Given the description of an element on the screen output the (x, y) to click on. 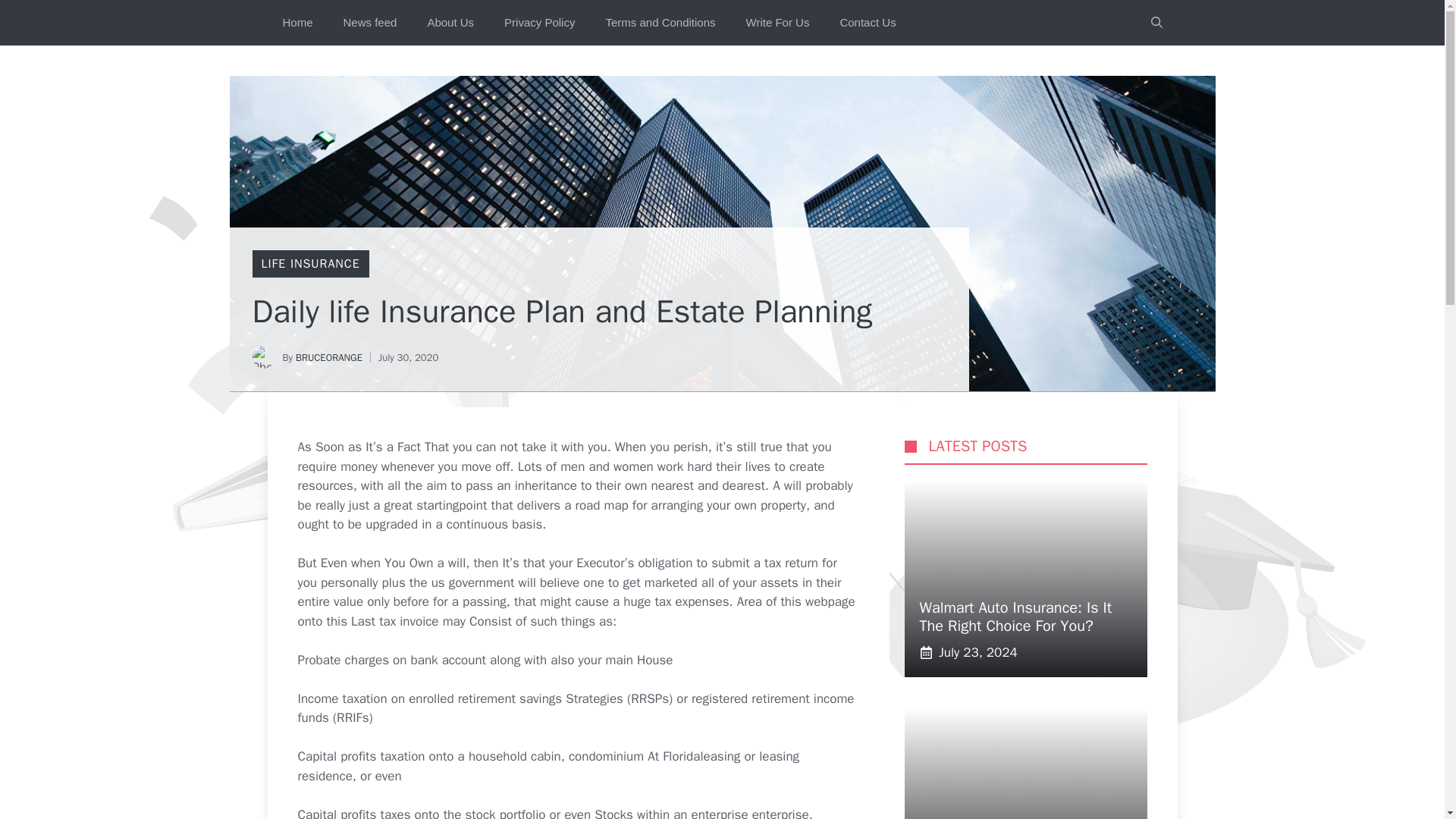
Privacy Policy (539, 22)
Contact Us (867, 22)
About Us (450, 22)
News feed (370, 22)
Write For Us (777, 22)
Home (296, 22)
LIFE INSURANCE (309, 263)
BRUCEORANGE (328, 357)
Walmart Auto Insurance: Is It The Right Choice For You? (1015, 616)
Terms and Conditions (659, 22)
